Given the description of an element on the screen output the (x, y) to click on. 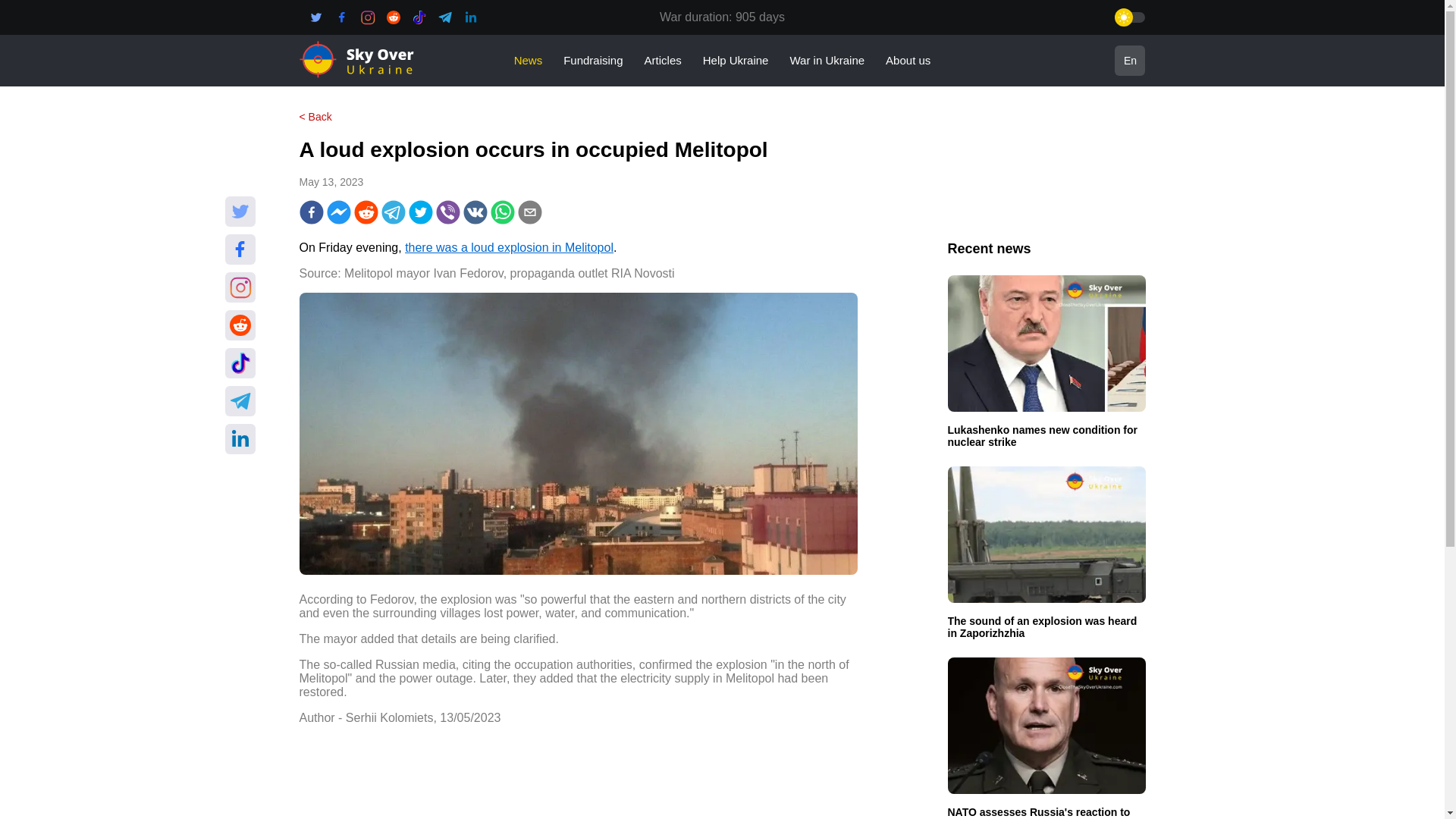
Fundraising (593, 60)
Help Ukraine (735, 60)
Articles (663, 60)
About us (907, 60)
News (528, 60)
War in Ukraine (826, 60)
